Given the description of an element on the screen output the (x, y) to click on. 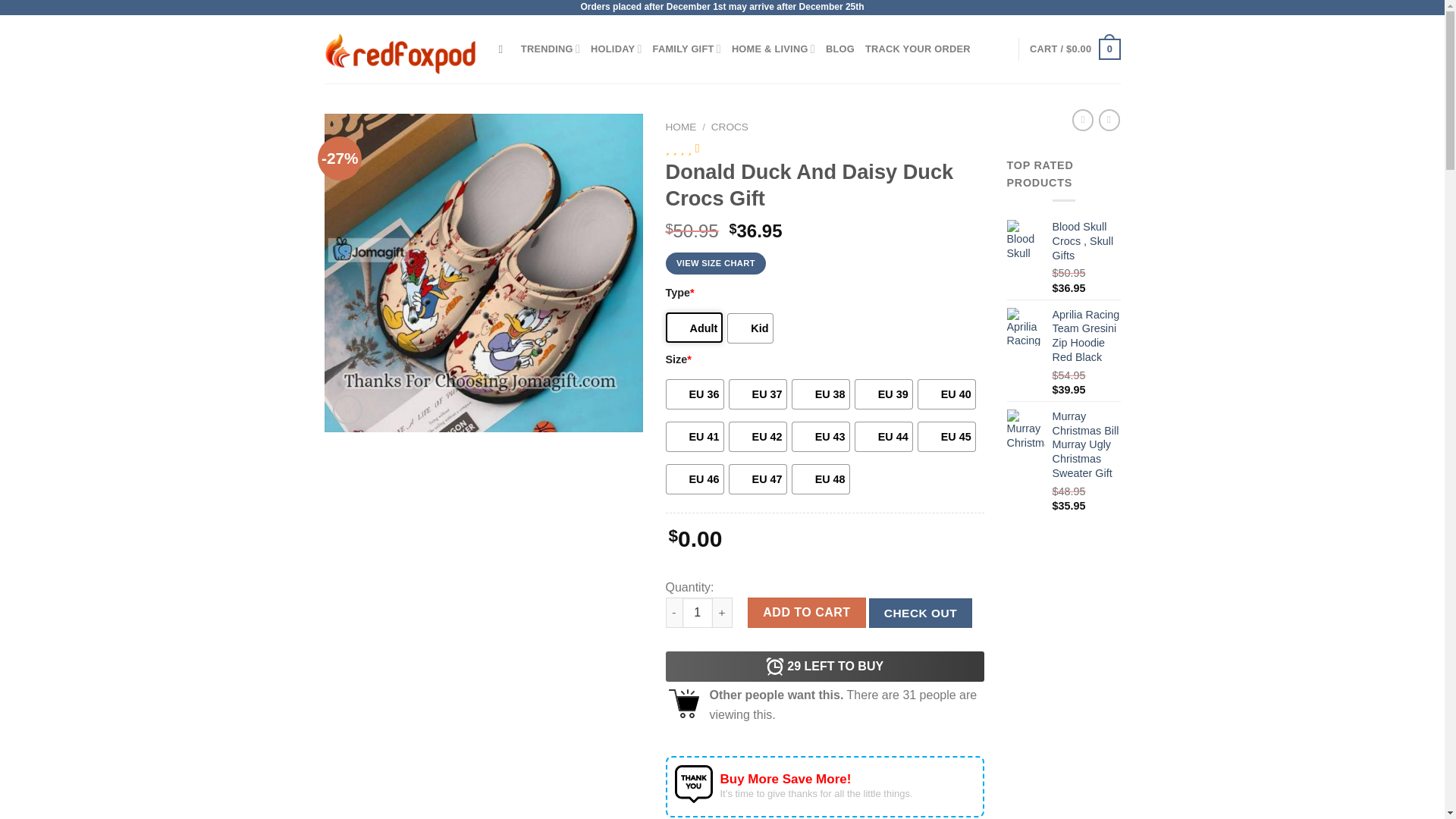
Adult (694, 327)
HOME (681, 126)
EU 36 (694, 394)
Zoom (347, 409)
Kid (749, 327)
FAMILY GIFT (686, 48)
TRENDING (550, 48)
BLOG (839, 49)
TRACK YOUR ORDER (917, 49)
CROCS (729, 126)
1 (697, 612)
VIEW SIZE CHART (716, 263)
HOLIDAY (616, 48)
Cart (1074, 48)
EU 37 (758, 394)
